Given the description of an element on the screen output the (x, y) to click on. 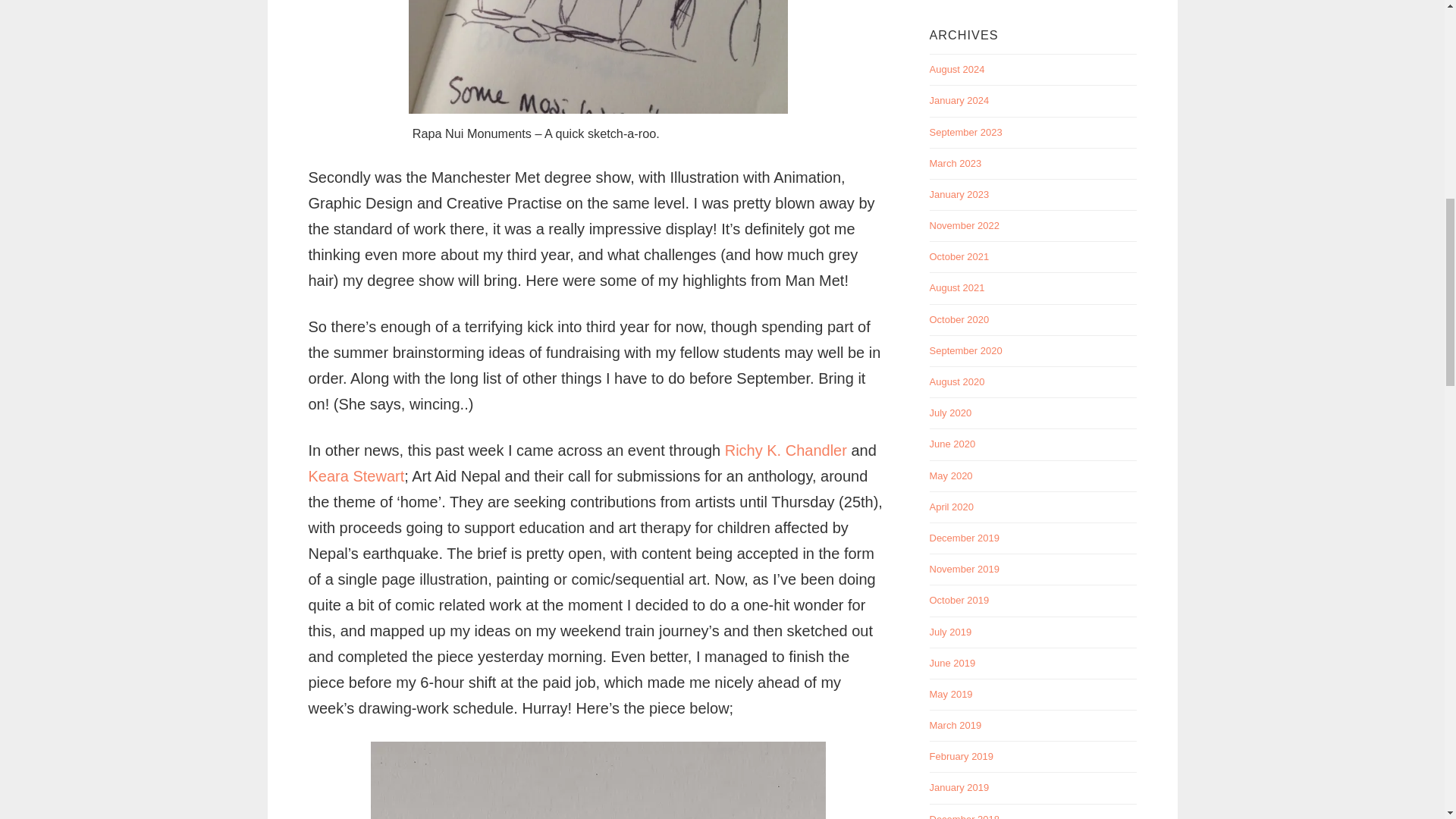
March 2023 (955, 163)
August 2024 (957, 69)
August 2021 (957, 287)
September 2023 (966, 131)
January 2023 (960, 194)
Keara Stewart (355, 475)
October 2021 (960, 256)
Richy K. Chandler (786, 450)
January 2024 (960, 100)
November 2022 (965, 225)
